Given the description of an element on the screen output the (x, y) to click on. 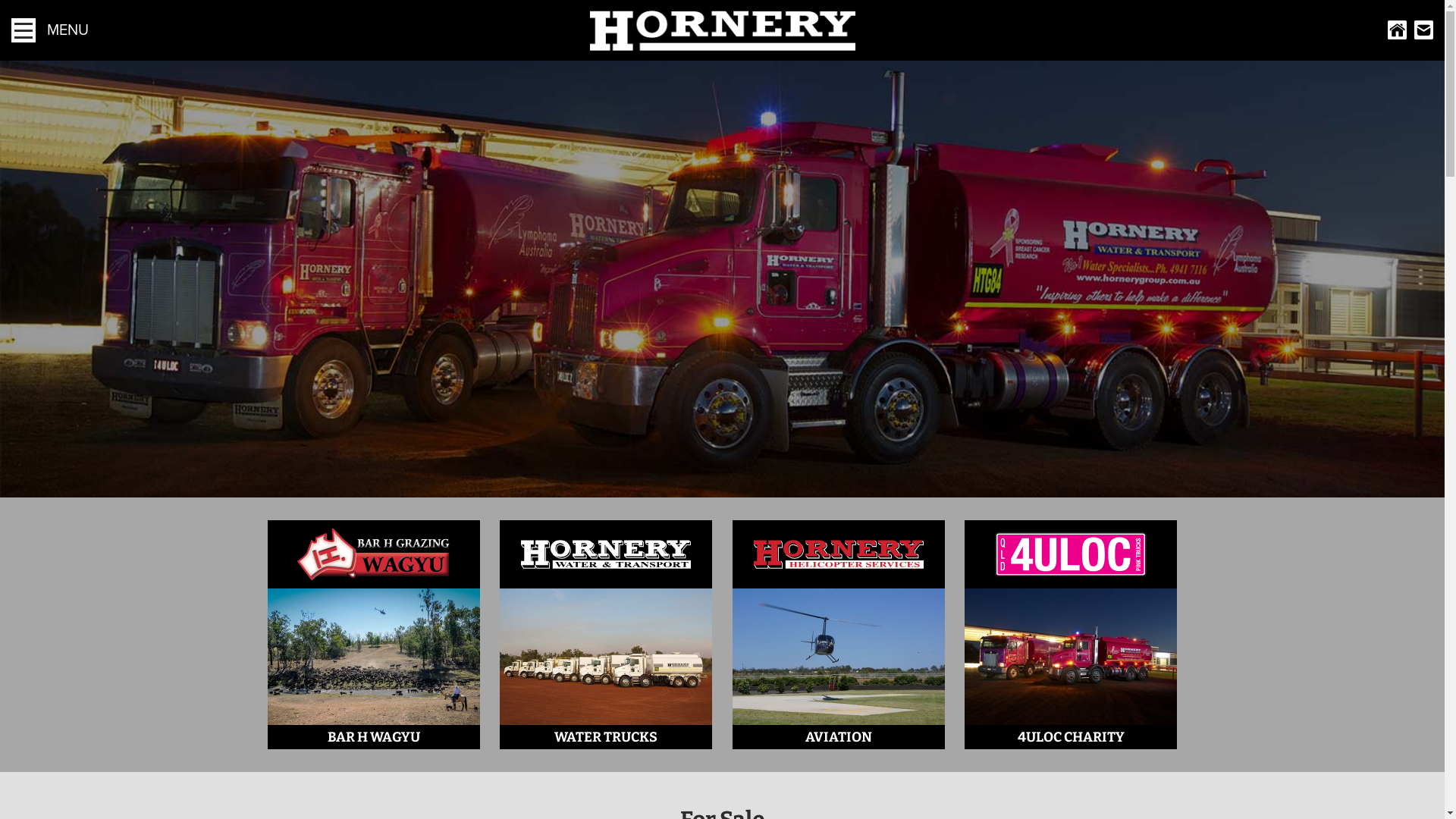
4ULOC CHARITY Element type: text (1070, 634)
BAR H WAGYU Element type: text (372, 634)
WATER TRUCKS Element type: text (605, 634)
AVIATION Element type: text (838, 634)
